Given the description of an element on the screen output the (x, y) to click on. 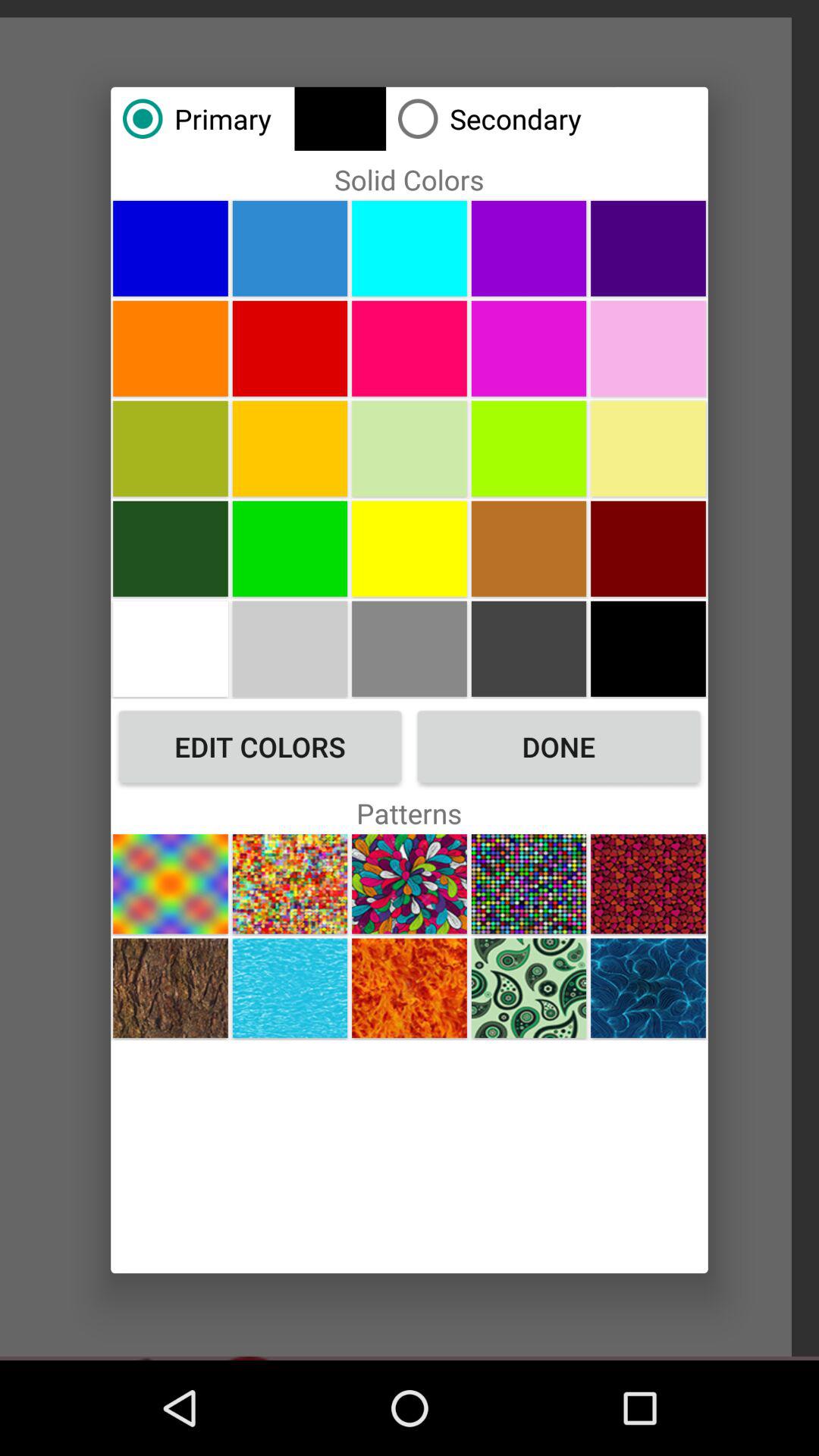
choose patterned color (528, 883)
